Given the description of an element on the screen output the (x, y) to click on. 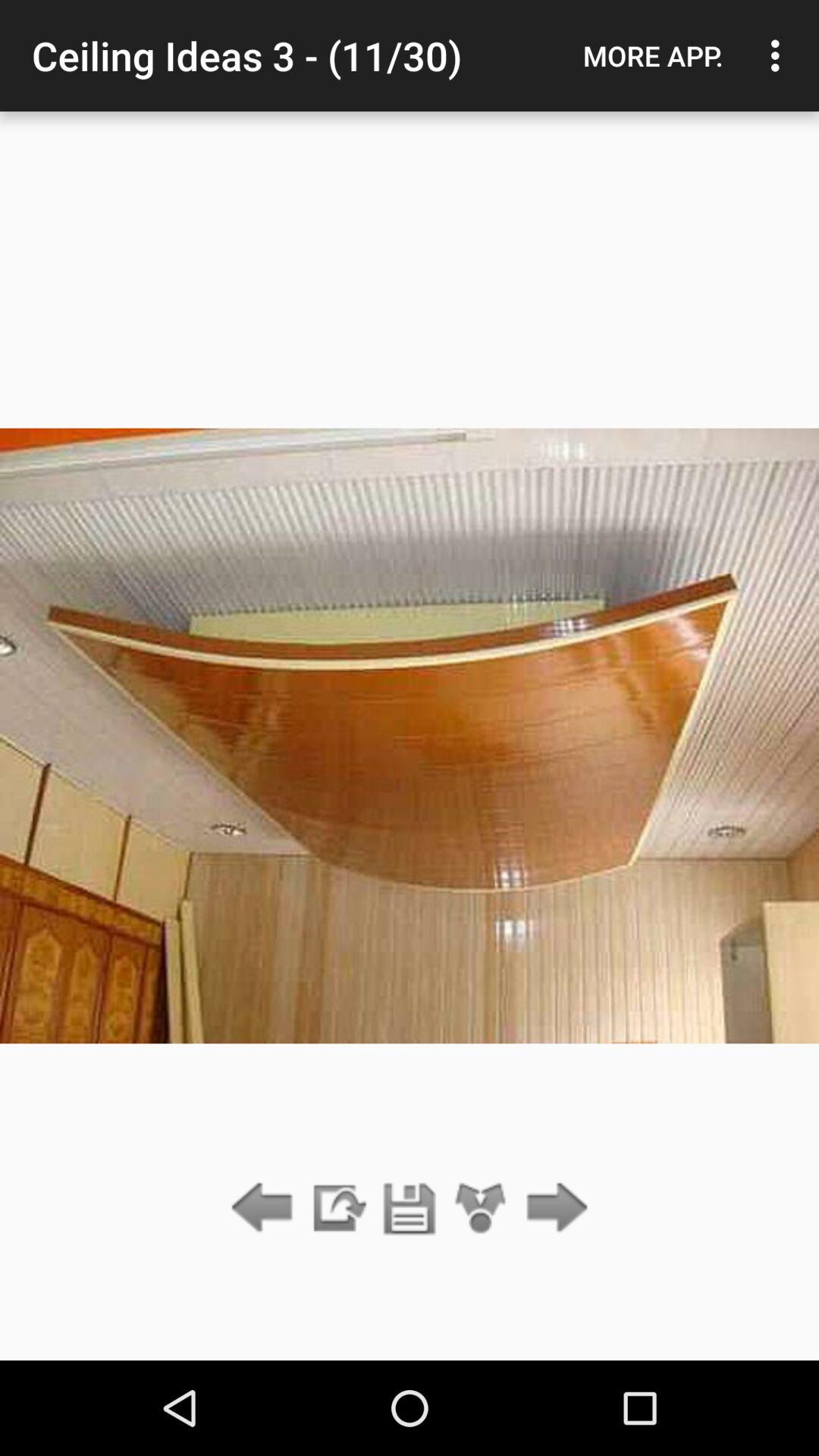
open icon next to the ceiling ideas 3 (653, 55)
